Given the description of an element on the screen output the (x, y) to click on. 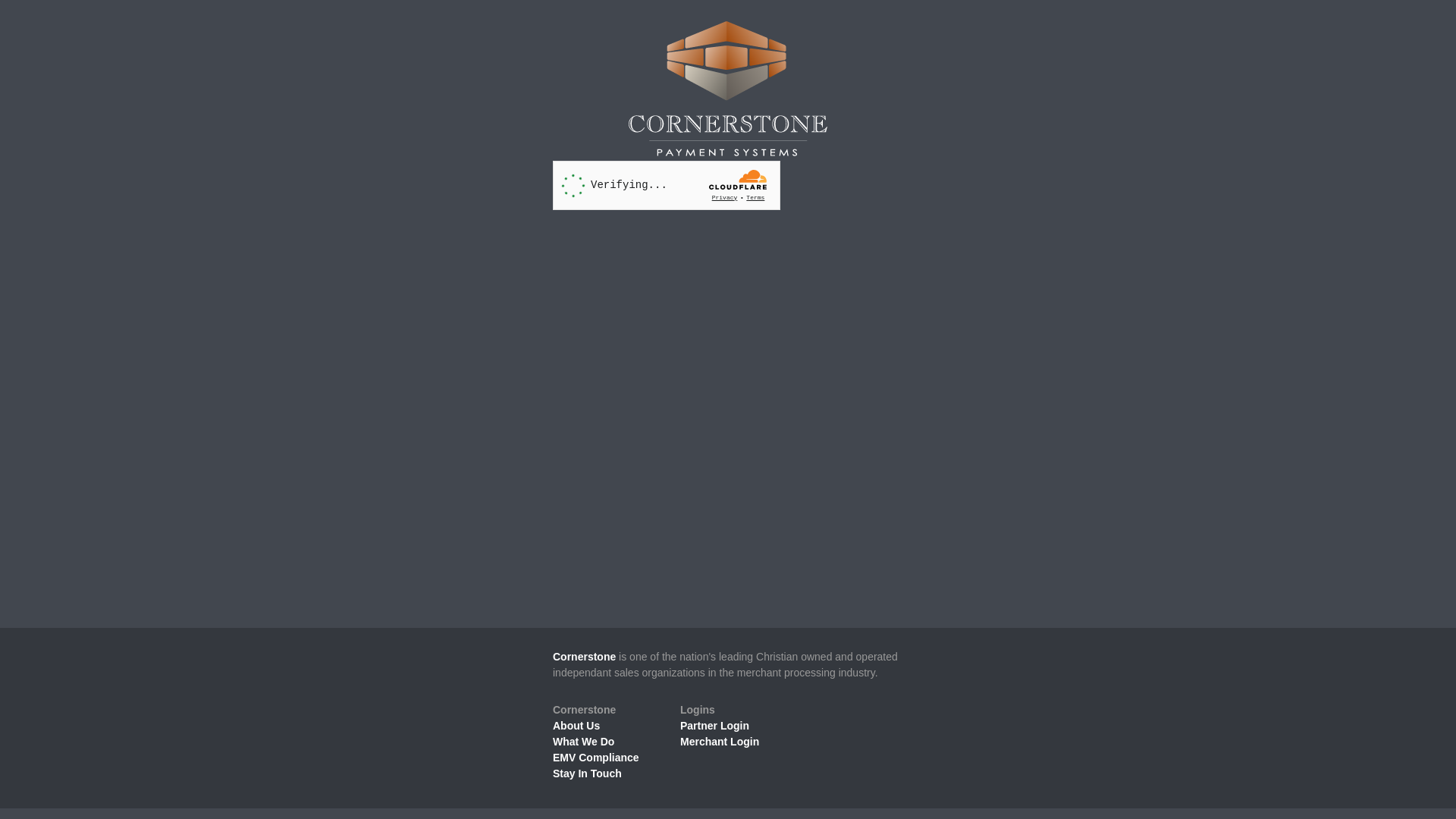
About Us Element type: text (575, 725)
Widget containing a Cloudflare security challenge Element type: hover (666, 185)
Merchant Login Element type: text (719, 741)
What We Do Element type: text (583, 741)
Partner Login Element type: text (714, 725)
EMV Compliance Element type: text (595, 757)
Cornerstone Element type: text (583, 656)
Stay In Touch Element type: text (586, 773)
